Given the description of an element on the screen output the (x, y) to click on. 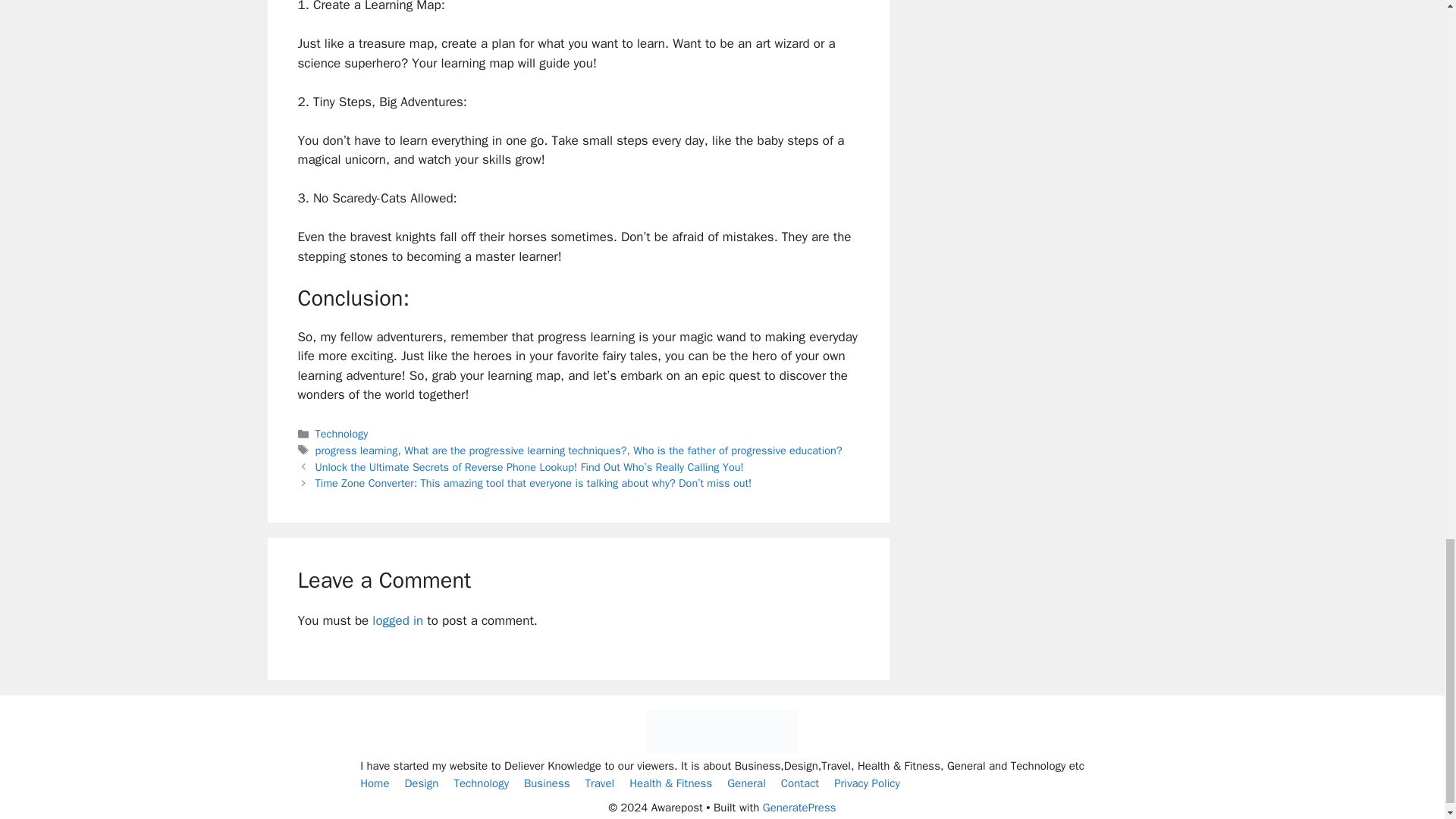
Business (547, 783)
Design (421, 783)
Awarepost.com (721, 748)
Technology (341, 433)
logged in (397, 620)
What are the progressive learning techniques? (515, 450)
Who is the father of progressive education? (737, 450)
Travel (599, 783)
Home (373, 783)
Technology (480, 783)
progress learning (356, 450)
